Given the description of an element on the screen output the (x, y) to click on. 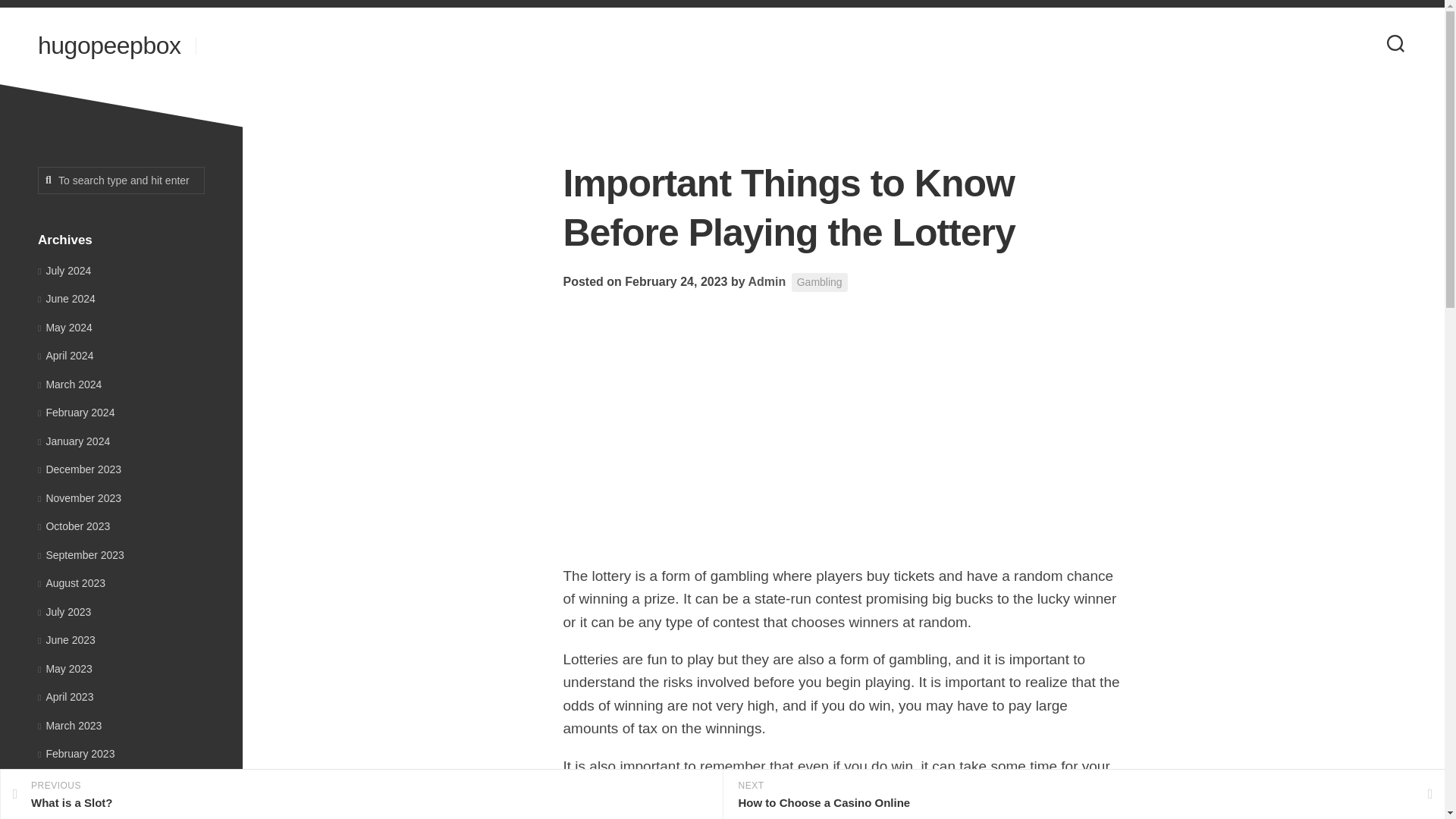
July 2024 (63, 269)
July 2023 (63, 611)
Admin (767, 281)
December 2022 (78, 810)
Posts by Admin (767, 281)
December 2023 (78, 469)
April 2023 (65, 696)
May 2023 (65, 668)
September 2023 (80, 554)
June 2023 (66, 639)
February 2023 (76, 753)
June 2024 (66, 298)
Gambling (361, 794)
February 2024 (819, 281)
